Given the description of an element on the screen output the (x, y) to click on. 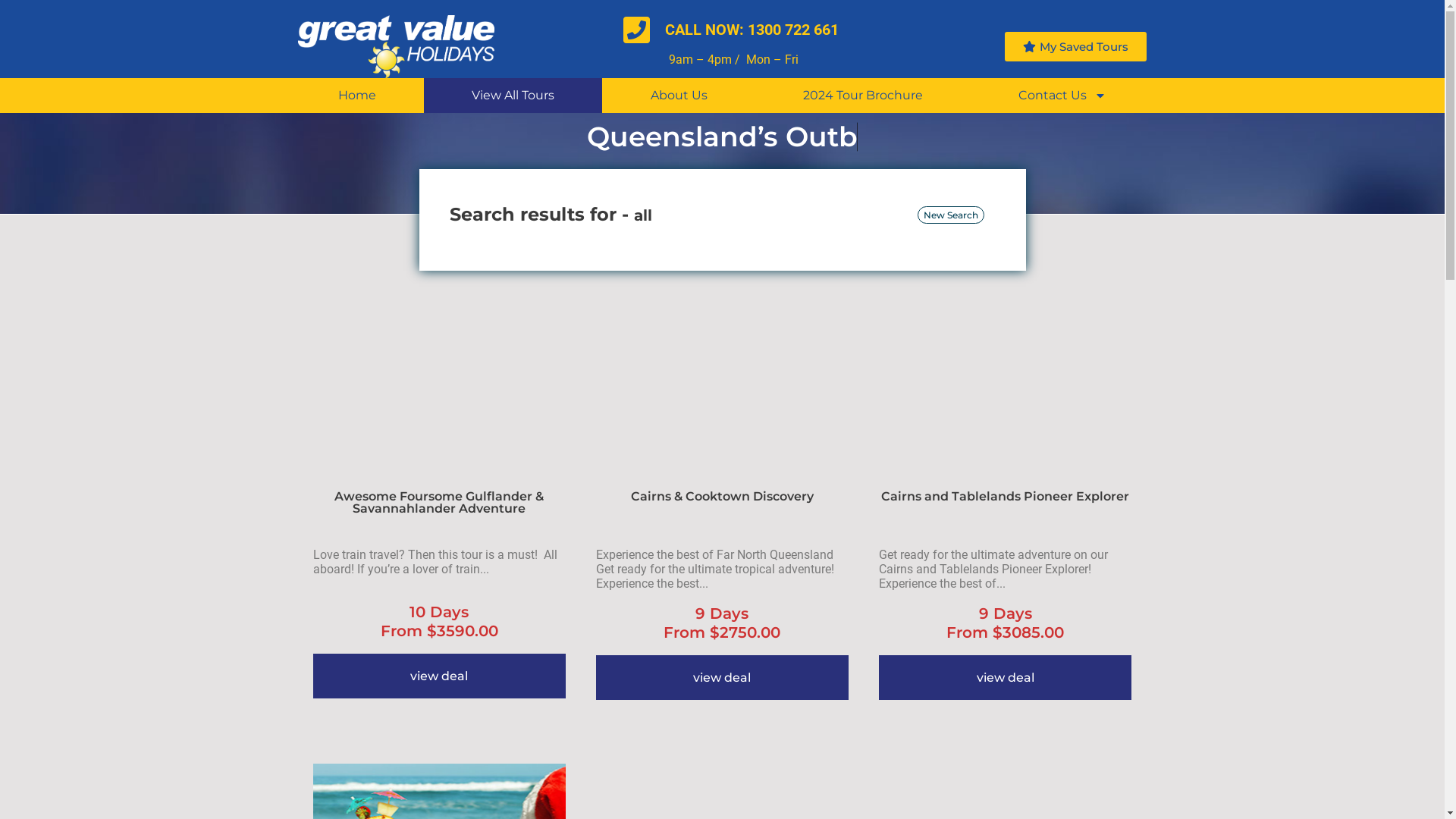
Home Element type: text (356, 95)
About Us Element type: text (678, 95)
2024 Tour Brochure Element type: text (862, 95)
view deal Element type: text (438, 675)
view deal Element type: text (722, 677)
My Saved Tours Element type: text (1075, 46)
New Search Element type: text (950, 214)
CALL NOW: 1300 722 661 Element type: text (730, 29)
View All Tours Element type: text (512, 95)
view deal Element type: text (1004, 677)
Contact Us Element type: text (1062, 95)
